Given the description of an element on the screen output the (x, y) to click on. 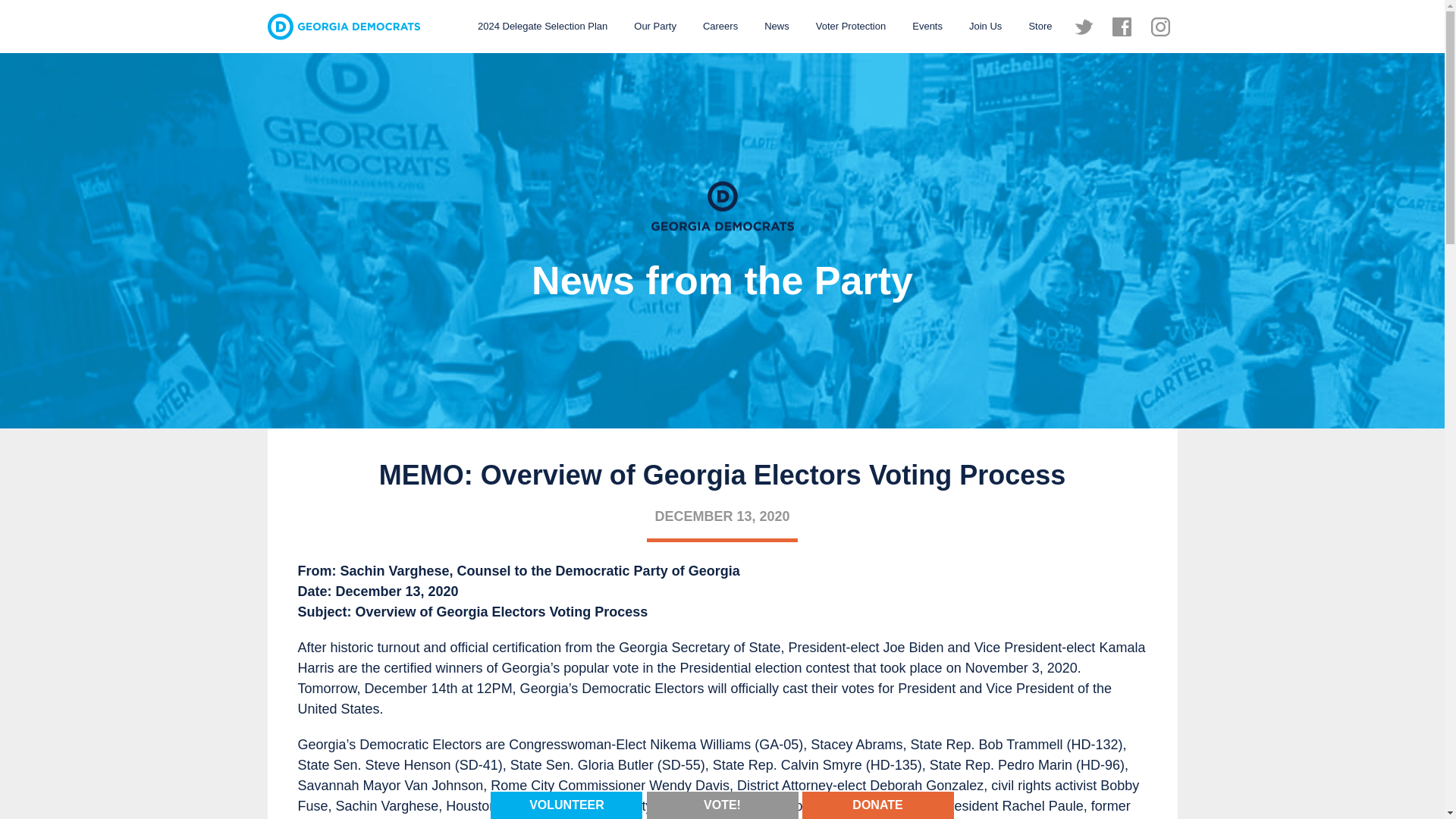
VOLUNTEER (566, 804)
Events (927, 25)
Join Us (985, 25)
Store (1039, 25)
DEMOCRATIC PARTY OF GEORGIA (342, 26)
Voter Protection (851, 25)
2024 Delegate Selection Plan (541, 25)
Our Party (655, 25)
DONATE (877, 804)
VOTE! (721, 804)
